Given the description of an element on the screen output the (x, y) to click on. 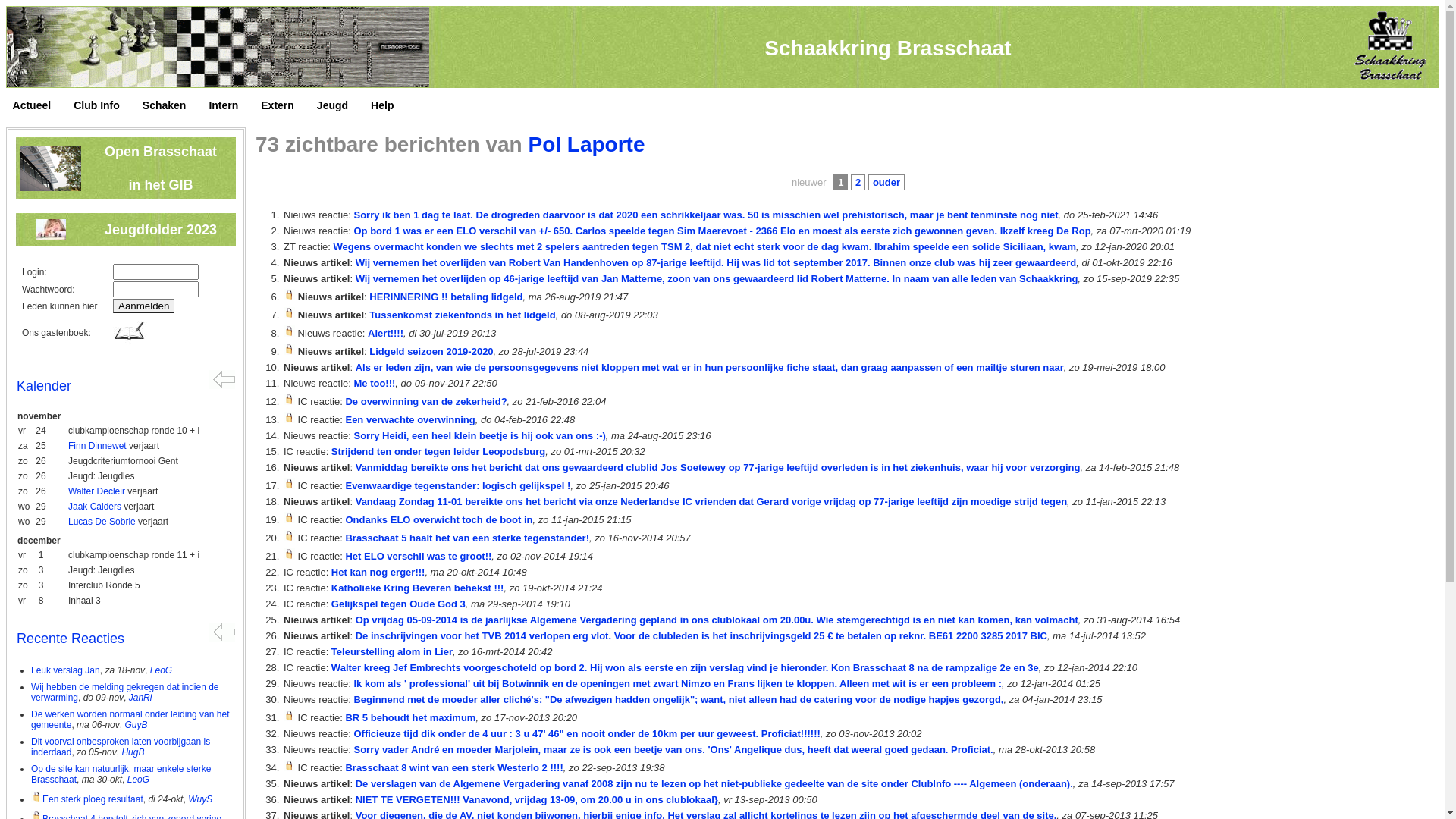
Enkel zichtbaar voor clubleden Element type: hover (288, 517)
De overwinning van de zekerheid? Element type: text (425, 401)
Schaakkring Brasschaat Element type: text (887, 47)
Verberg de sidebar Element type: hover (222, 379)
Help Element type: text (389, 106)
Club Info Element type: text (103, 106)
Jeugdfolder 2023 Element type: text (160, 229)
Brasschaat 8 wint van een sterk Westerlo 2 !!!! Element type: text (453, 767)
Lidgeld seizoen 2019-2020 Element type: text (430, 351)
Het kan nog erger!!! Element type: text (378, 571)
Enkel zichtbaar voor clubleden Element type: hover (288, 312)
BR 5 behoudt het maximum Element type: text (410, 717)
Op de site kan natuurlijk, maar enkele sterke Brasschaat Element type: text (120, 773)
Enkel zichtbaar voor clubleden Element type: hover (288, 715)
Me too!!! Element type: text (374, 383)
Extern Element type: text (284, 106)
Alert!!!! Element type: text (385, 332)
Sorry Heidi, een heel klein beetje is hij ook van ons :-) Element type: text (479, 435)
1 Element type: text (840, 182)
ouder Element type: text (886, 182)
Enkel zichtbaar voor clubleden Element type: hover (288, 398)
LeoG Element type: text (161, 670)
Verberg de sidebar Element type: hover (222, 630)
Wij hebben de melding gekregen dat indien de verwarming Element type: text (125, 691)
Gastenboek Element type: hover (129, 331)
Logo Schaakkring Brasschaat Element type: hover (1388, 46)
Enkel zichtbaar voor clubleden Element type: hover (288, 483)
Brasschaat 5 haalt het van een sterke tegenstander! Element type: text (467, 537)
Aanmelden Element type: text (143, 305)
Lucas De Sobrie Element type: text (101, 521)
Tussenkomst ziekenfonds in het lidgeld Element type: text (462, 314)
Enkel zichtbaar voor clubleden Element type: hover (288, 348)
Jaak Calders Element type: text (94, 506)
Actueel Element type: text (39, 106)
Enkel zichtbaar voor clubleden Element type: hover (288, 417)
2 Element type: text (857, 182)
Gelijkspel tegen Oude God 3 Element type: text (398, 603)
Teleurstelling alom in Lier Element type: text (391, 651)
GuyB Element type: text (135, 724)
Finn Dinnewet Element type: text (97, 445)
HugB Element type: text (132, 751)
Open Brasschaat

in het GIB Element type: text (160, 168)
JanRi Element type: text (140, 697)
Een verwachte overwinning Element type: text (409, 419)
Recente Reacties Element type: text (70, 638)
Intern Element type: text (230, 106)
Enkel zichtbaar voor clubleden Element type: hover (288, 535)
Enkel zichtbaar voor clubleden Element type: hover (288, 330)
De werken worden normaal onder leiding van het gemeente Element type: text (130, 719)
LeoG Element type: text (138, 779)
Schaakkring Brasschaat Element type: text (722, 47)
Pol Laporte Element type: text (585, 144)
Het ELO verschil was te groot!! Element type: text (418, 555)
Ondanks ELO overwicht toch de boot in Element type: text (438, 519)
Enkel zichtbaar voor clubleden Element type: hover (288, 765)
WuyS Element type: text (200, 798)
Schaken Element type: text (171, 106)
Evenwaardige tegenstander: logisch gelijkspel ! Element type: text (457, 485)
Enkel zichtbaar voor clubleden Element type: hover (288, 553)
Leuk verslag Jan Element type: text (65, 670)
Walter Decleir Element type: text (96, 491)
HERINNERING !! betaling lidgeld Element type: text (445, 296)
Kalender Element type: text (43, 385)
deel van Escher's Metamorfose II Element type: hover (217, 46)
Katholieke Kring Beveren behekst !!! Element type: text (417, 587)
Strijdend ten onder tegen leider Leopodsburg Element type: text (438, 451)
Jeugd Element type: text (339, 106)
  Element type: text (7, 109)
Een sterk ploeg resultaat Element type: text (87, 798)
nieuwer Element type: text (809, 182)
Dit voorval onbesproken laten voorbijgaan is inderdaad Element type: text (120, 746)
Enkel zichtbaar voor clubleden Element type: hover (288, 294)
